Given the description of an element on the screen output the (x, y) to click on. 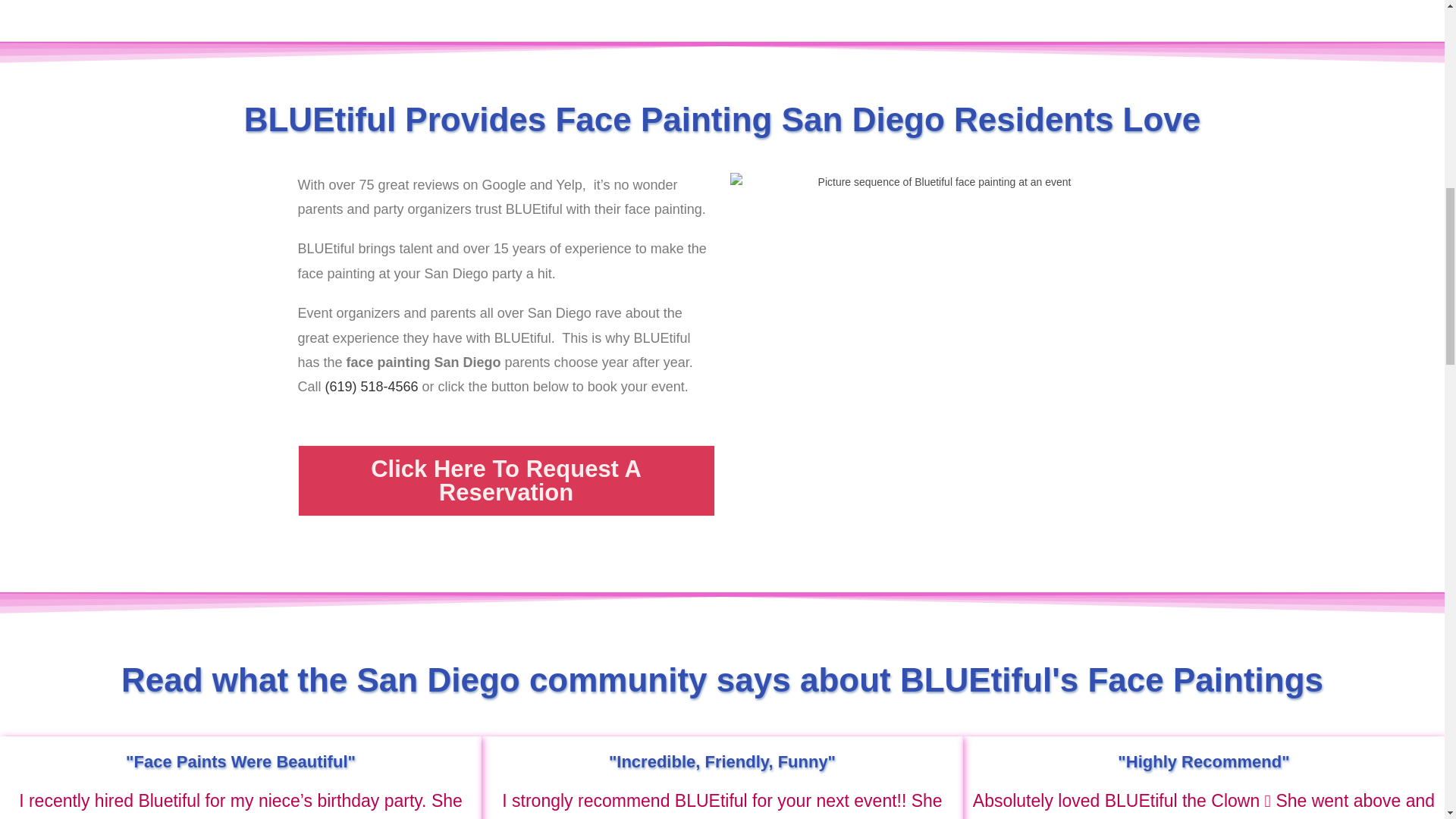
Click Here To Request A Reservation (505, 480)
